Given the description of an element on the screen output the (x, y) to click on. 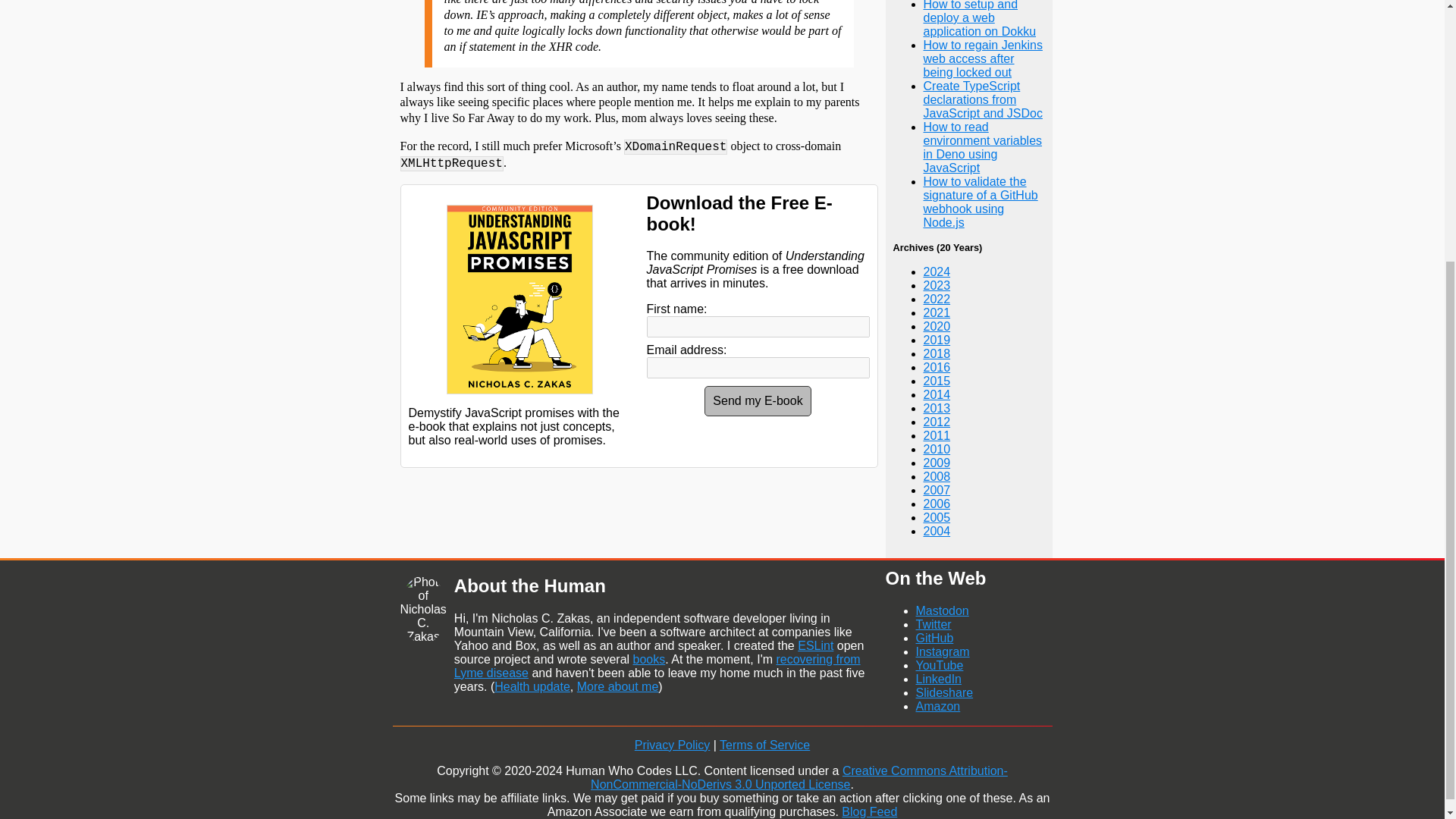
2023 (936, 285)
2021 (936, 312)
2020 (936, 326)
Send my E-book (757, 400)
2022 (936, 298)
How to setup and deploy a web application on Dokku (979, 18)
How to regain Jenkins web access after being locked out (982, 58)
Create TypeScript declarations from JavaScript and JSDoc (982, 99)
2019 (936, 339)
Send my E-book (757, 400)
2024 (936, 271)
How to read environment variables in Deno using JavaScript (982, 147)
